Given the description of an element on the screen output the (x, y) to click on. 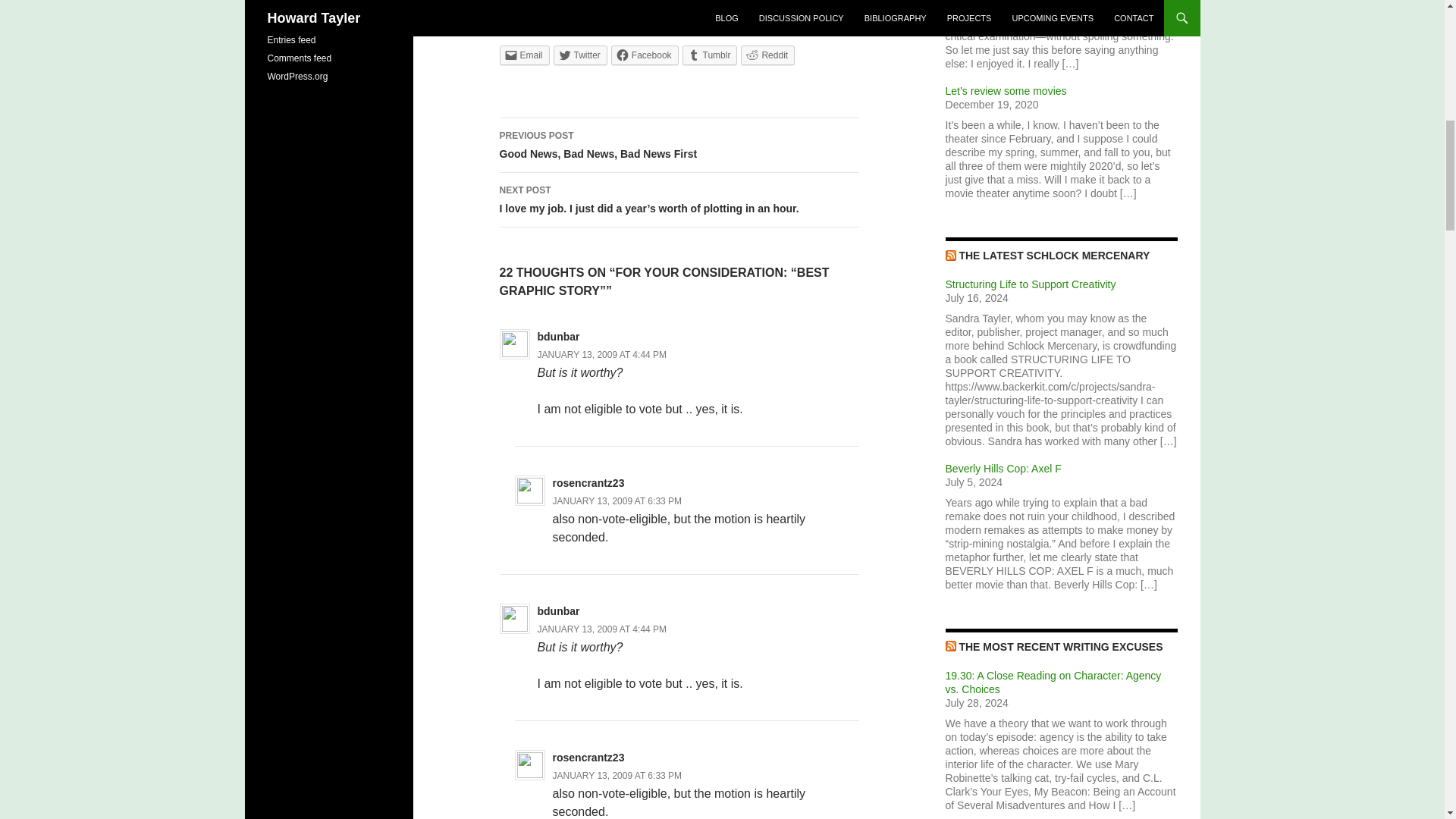
Email (523, 55)
Click to share on Twitter (580, 55)
JANUARY 13, 2009 AT 6:33 PM (617, 501)
Click to share on Facebook (644, 55)
rosencrantz23 (588, 482)
Reddit (767, 55)
Twitter (580, 55)
JANUARY 13, 2009 AT 4:44 PM (601, 354)
bdunbar (558, 611)
Tumblr (710, 55)
rosencrantz23 (588, 757)
Click to share on Reddit (767, 55)
JANUARY 13, 2009 AT 6:33 PM (617, 775)
Click to share on Tumblr (679, 144)
